Given the description of an element on the screen output the (x, y) to click on. 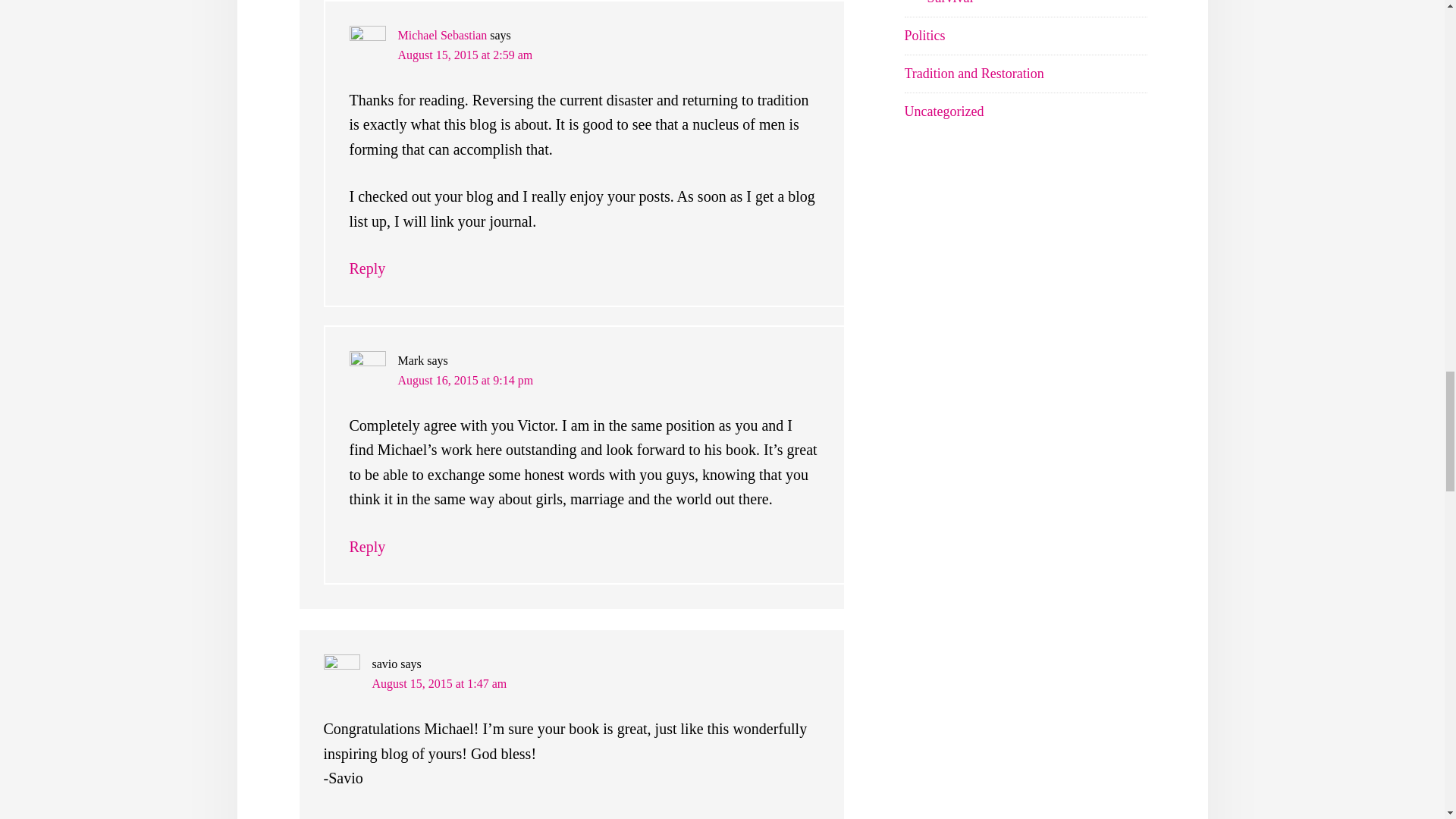
Reply (341, 818)
Michael Sebastian (441, 34)
August 16, 2015 at 9:14 pm (464, 379)
August 15, 2015 at 1:47 am (438, 683)
Reply (367, 268)
Reply (367, 546)
August 15, 2015 at 2:59 am (464, 54)
